Given the description of an element on the screen output the (x, y) to click on. 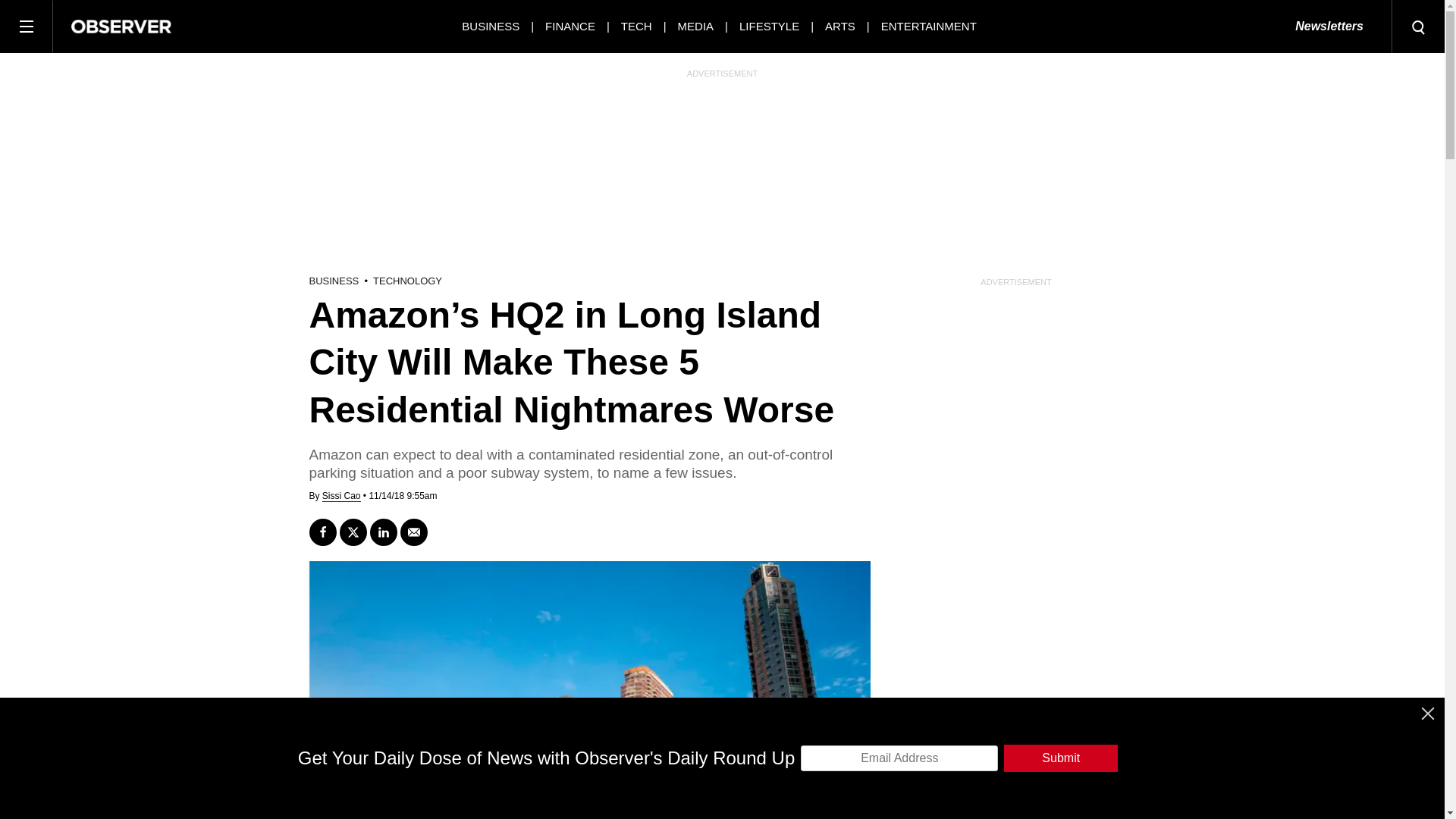
FINANCE (569, 25)
Share on LinkedIn (383, 532)
View All Posts by Sissi Cao (341, 496)
Send email (414, 532)
Observer (121, 26)
TECH (636, 25)
MEDIA (696, 25)
Newsletters (1329, 26)
BUSINESS (490, 25)
Tweet (352, 532)
